Given the description of an element on the screen output the (x, y) to click on. 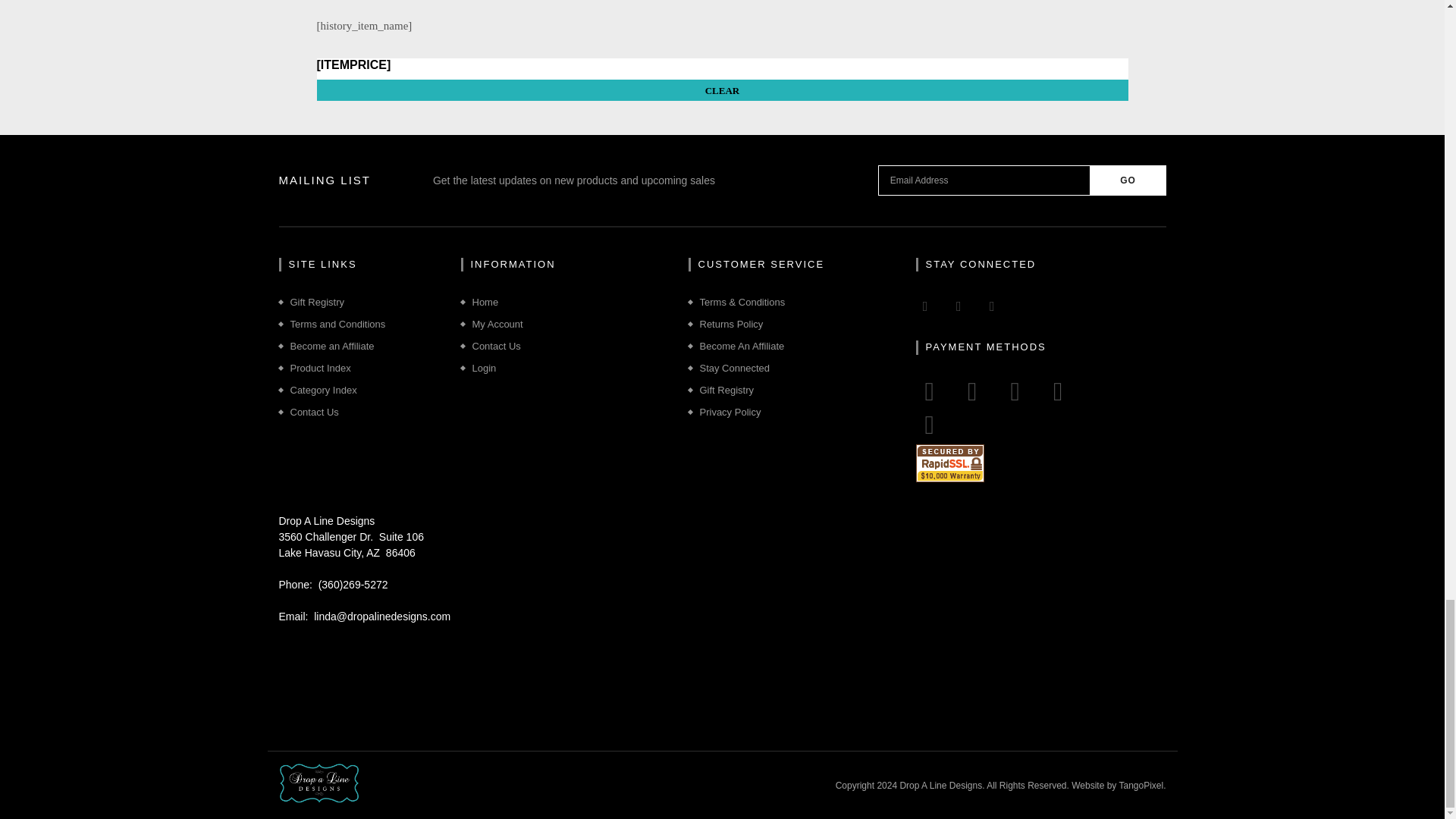
Like Us on Facebook (924, 306)
Follow Us on Instagram (991, 306)
Follow Us on Pinterest (958, 306)
